Given the description of an element on the screen output the (x, y) to click on. 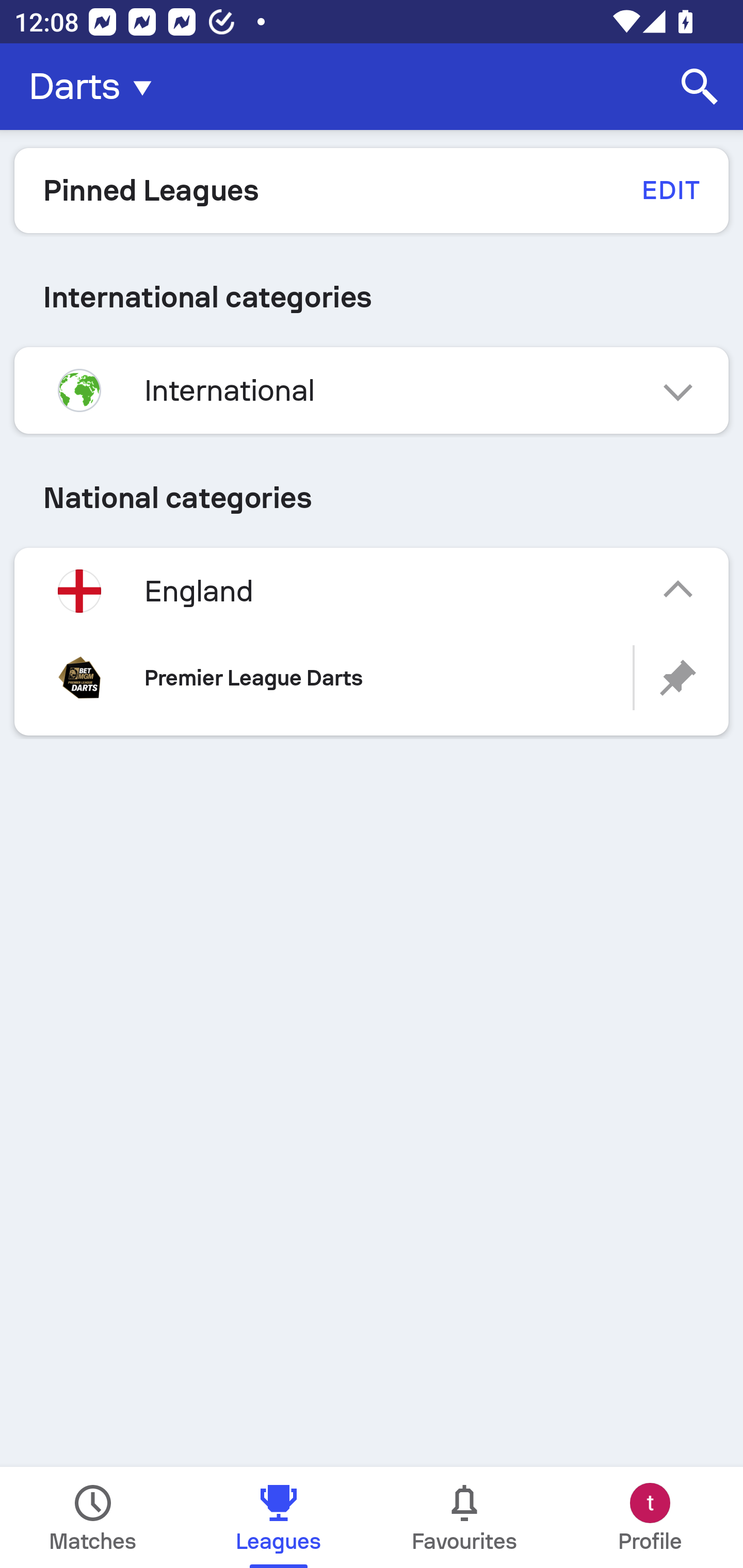
Darts (96, 86)
Search (699, 86)
Pinned Leagues EDIT (371, 190)
EDIT (670, 190)
International categories (371, 296)
International (371, 390)
National categories (371, 497)
England (371, 591)
Premier League Darts (371, 678)
Matches (92, 1517)
Favourites (464, 1517)
Profile (650, 1517)
